Given the description of an element on the screen output the (x, y) to click on. 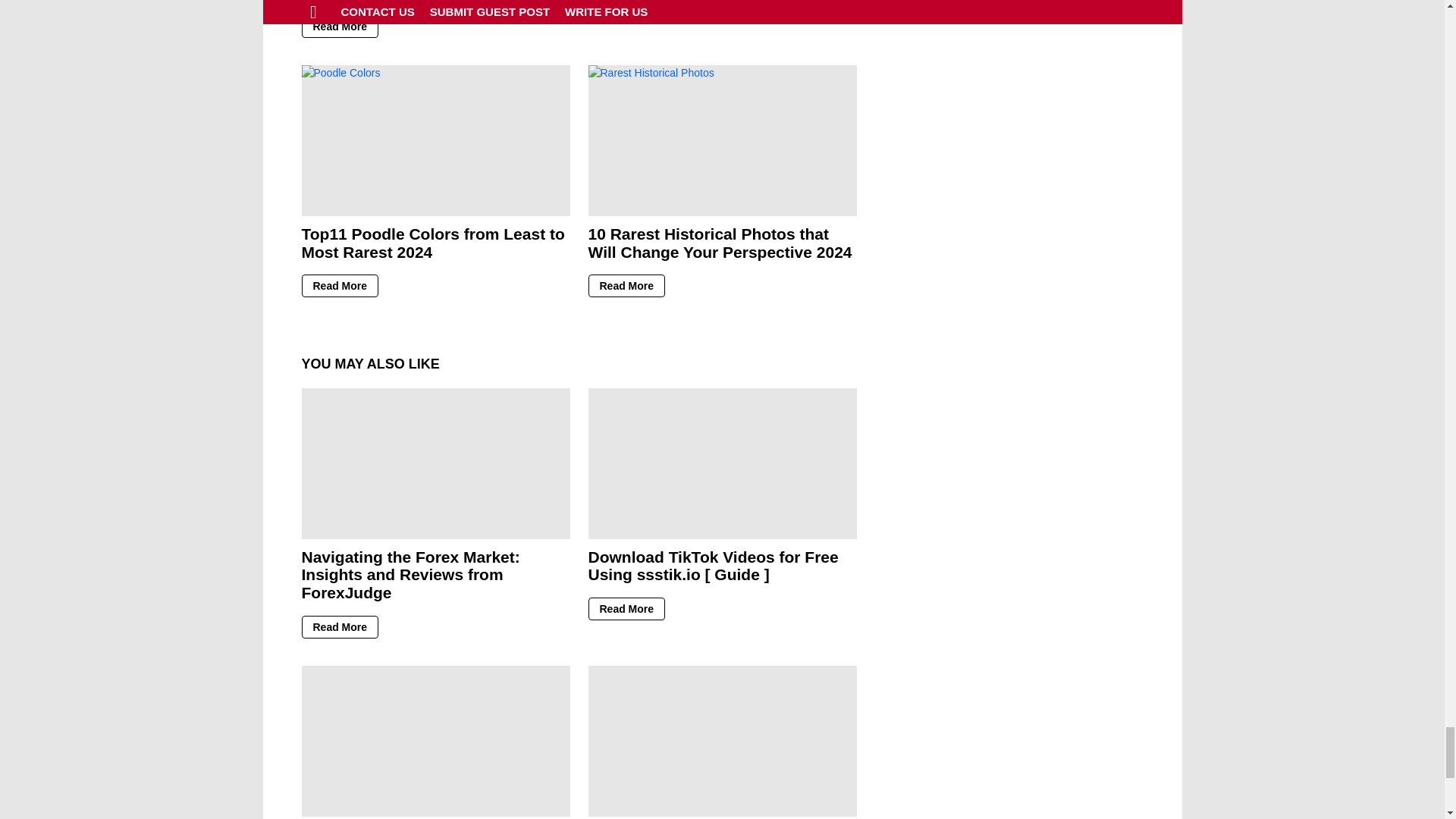
Top11 Poodle Colors from Least to Most Rarest 2024 (435, 140)
